Given the description of an element on the screen output the (x, y) to click on. 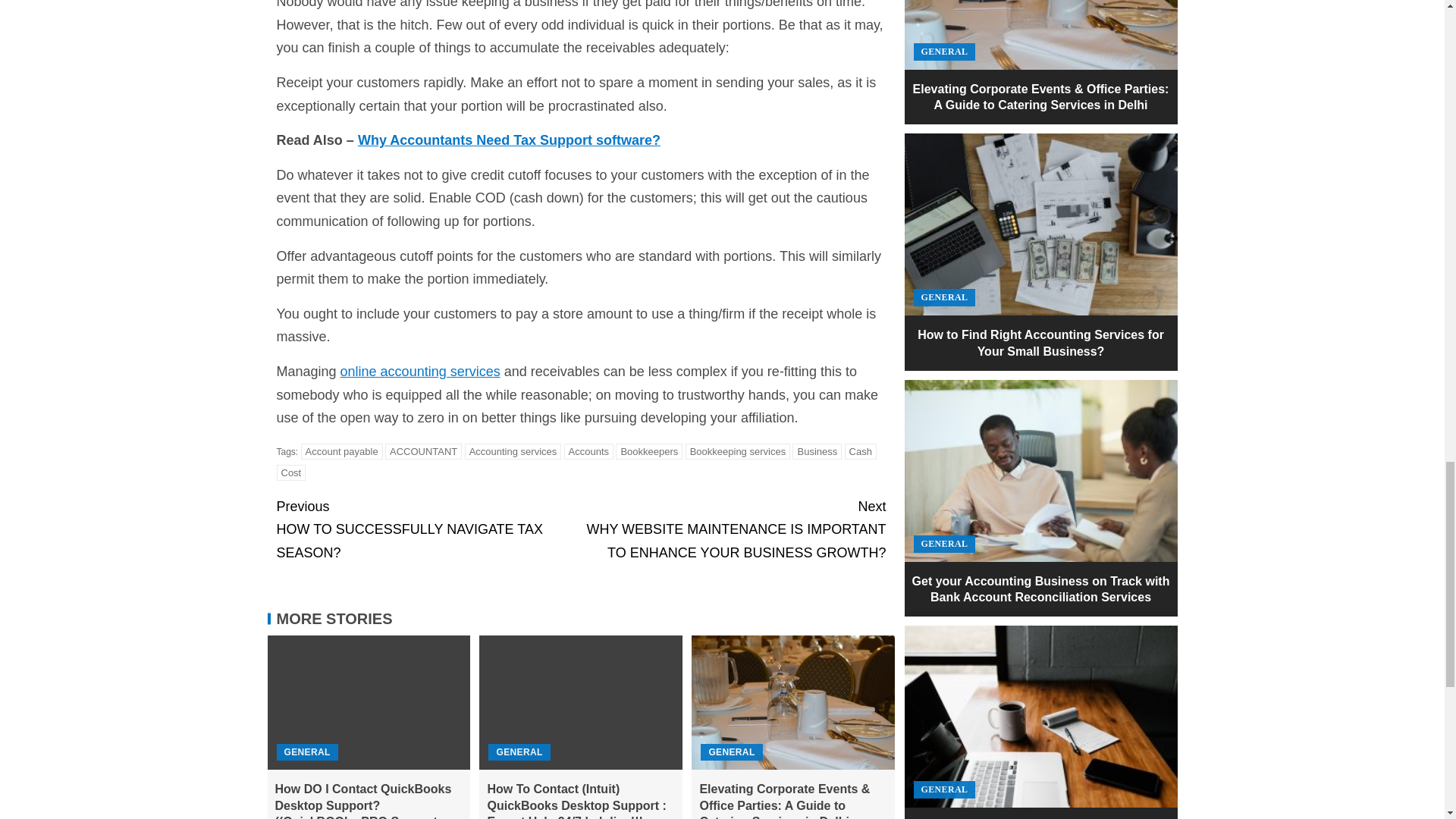
Account payable (341, 451)
ACCOUNTANT (423, 451)
Accounts (588, 451)
online accounting services (420, 371)
Cost (290, 472)
Why Accountants Need Tax Support software? (509, 140)
Cash (860, 451)
Bookkeepers (648, 451)
Business (428, 530)
GENERAL (816, 451)
Bookkeeping services (518, 751)
GENERAL (737, 451)
Accounting services (306, 751)
